Given the description of an element on the screen output the (x, y) to click on. 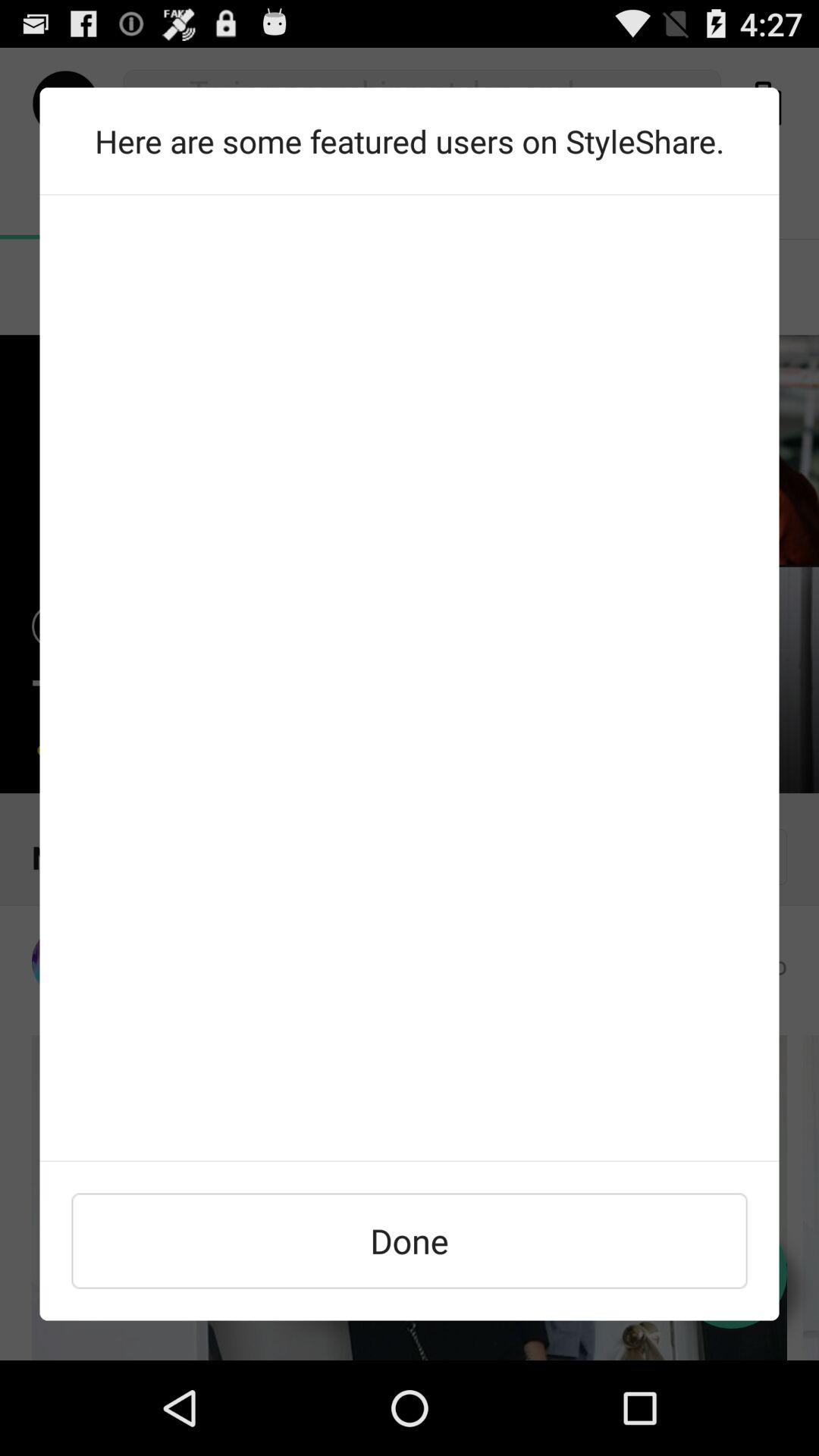
find featured users (409, 677)
